Given the description of an element on the screen output the (x, y) to click on. 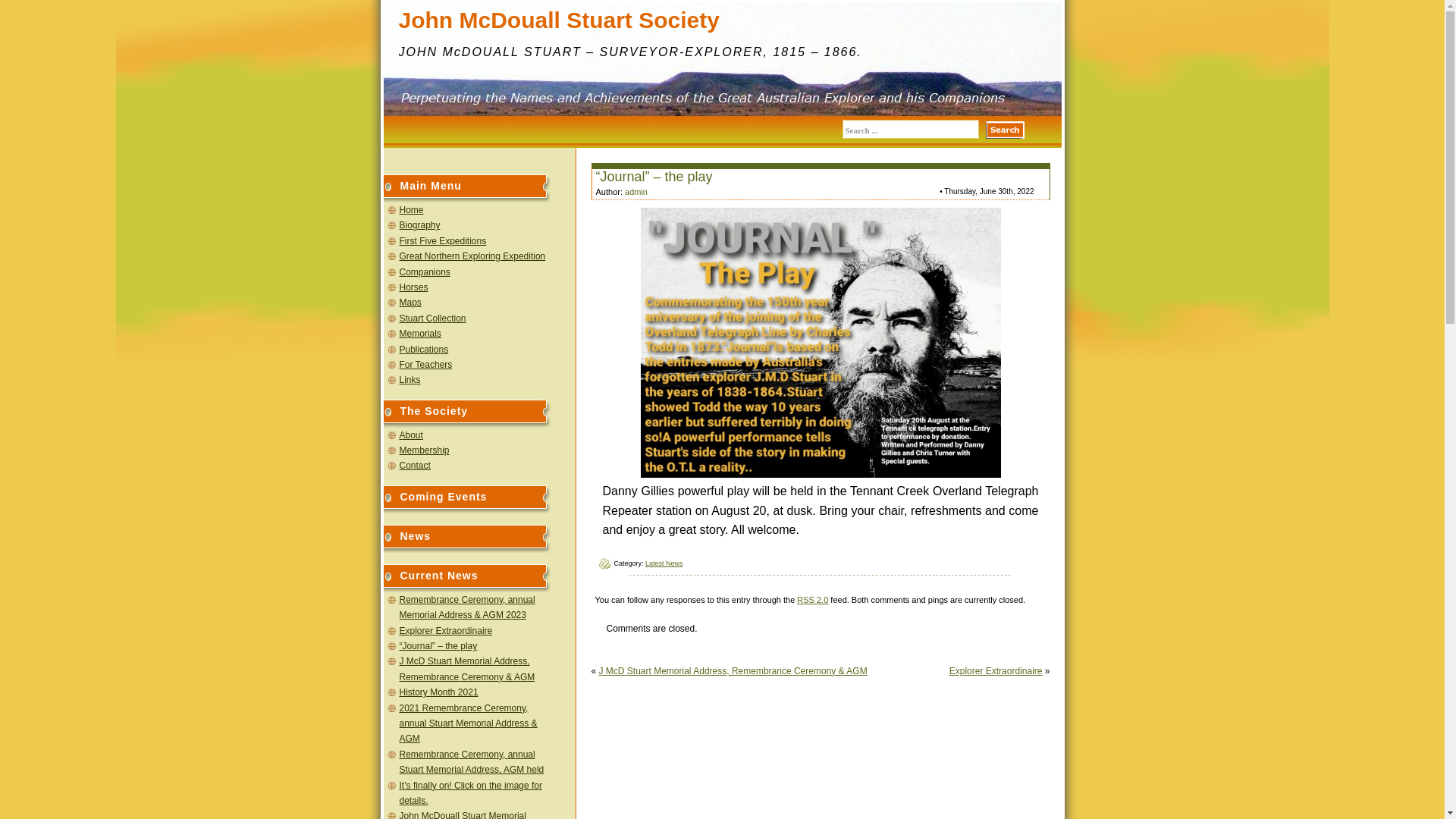
Companions Element type: text (423, 271)
J McD Stuart Memorial Address, Remembrance Ceremony & AGM Element type: text (733, 670)
Stuart Collection Element type: text (431, 318)
Biography Element type: text (418, 224)
Great Northern Exploring Expedition Element type: text (471, 256)
Explorer Extraordinaire Element type: text (445, 630)
For Teachers Element type: text (424, 364)
RSS 2.0 Element type: text (812, 599)
Remembrance Ceremony, annual Memorial Address & AGM 2023 Element type: text (466, 607)
Maps Element type: text (409, 302)
admin Element type: text (635, 191)
Publications Element type: text (423, 349)
Horses Element type: text (412, 287)
Latest News Element type: text (664, 563)
Memorials Element type: text (419, 333)
Explorer Extraordinaire Element type: text (995, 670)
About Element type: text (410, 434)
Links Element type: text (409, 379)
J McD Stuart Memorial Address, Remembrance Ceremony & AGM Element type: text (466, 668)
Membership Element type: text (423, 450)
First Five Expeditions Element type: text (442, 240)
John McDouall Stuart Society Element type: text (558, 19)
Contact Element type: text (413, 465)
Home Element type: text (410, 209)
History Month 2021 Element type: text (437, 692)
